Given the description of an element on the screen output the (x, y) to click on. 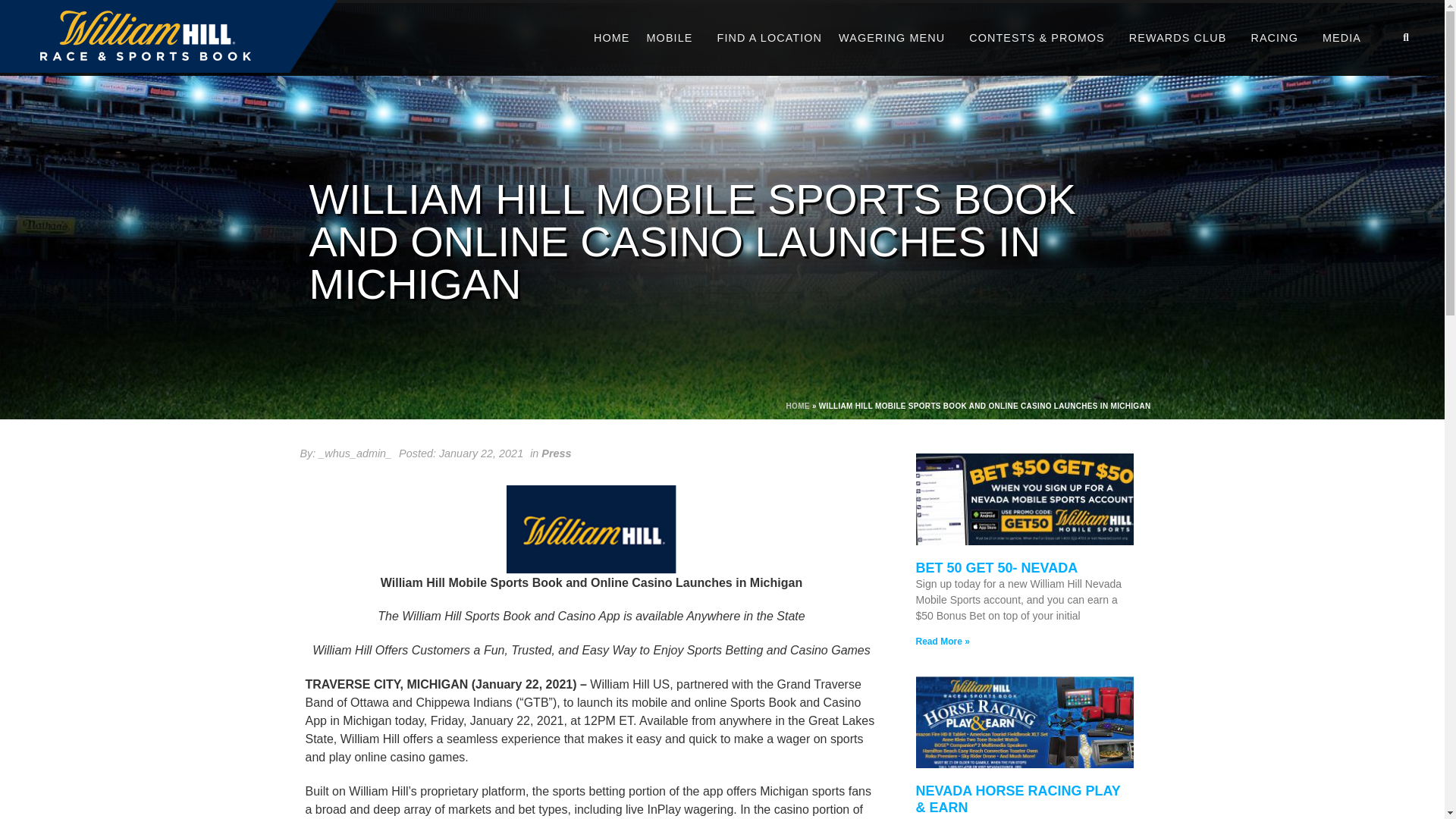
REWARDS CLUB (1182, 38)
RACING (1277, 38)
WAGERING MENU (894, 38)
FIND A LOCATION (768, 38)
MOBILE (674, 38)
